Given the description of an element on the screen output the (x, y) to click on. 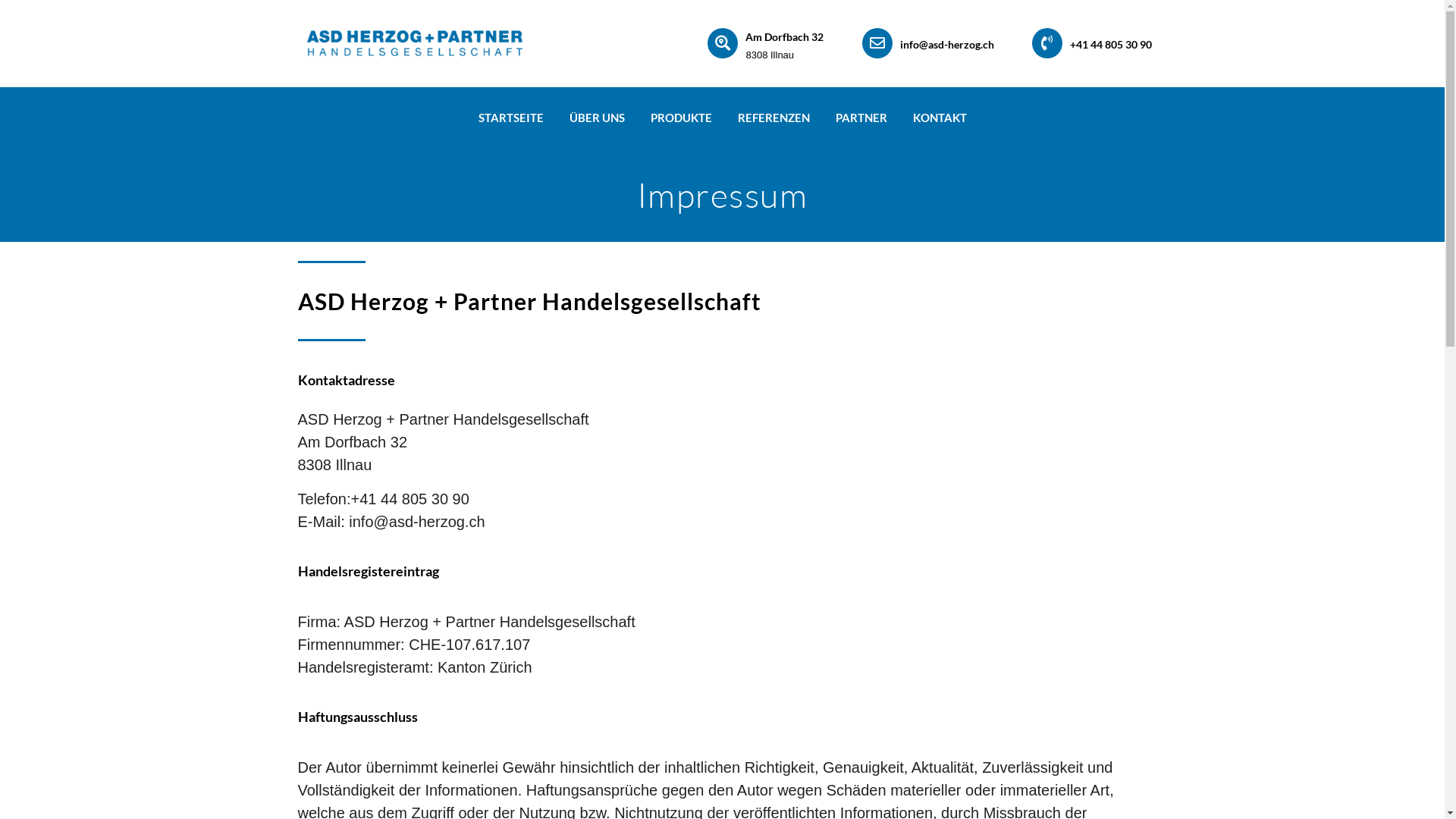
REFERENZEN Element type: text (773, 117)
STARTSEITE Element type: text (510, 117)
PRODUKTE Element type: text (680, 117)
info@asd-herzog.ch Element type: text (947, 43)
KONTAKT Element type: text (939, 117)
Am Dorfbach 32 Element type: text (784, 36)
+41 44 805 30 90 Element type: text (1110, 43)
PARTNER Element type: text (860, 117)
